Given the description of an element on the screen output the (x, y) to click on. 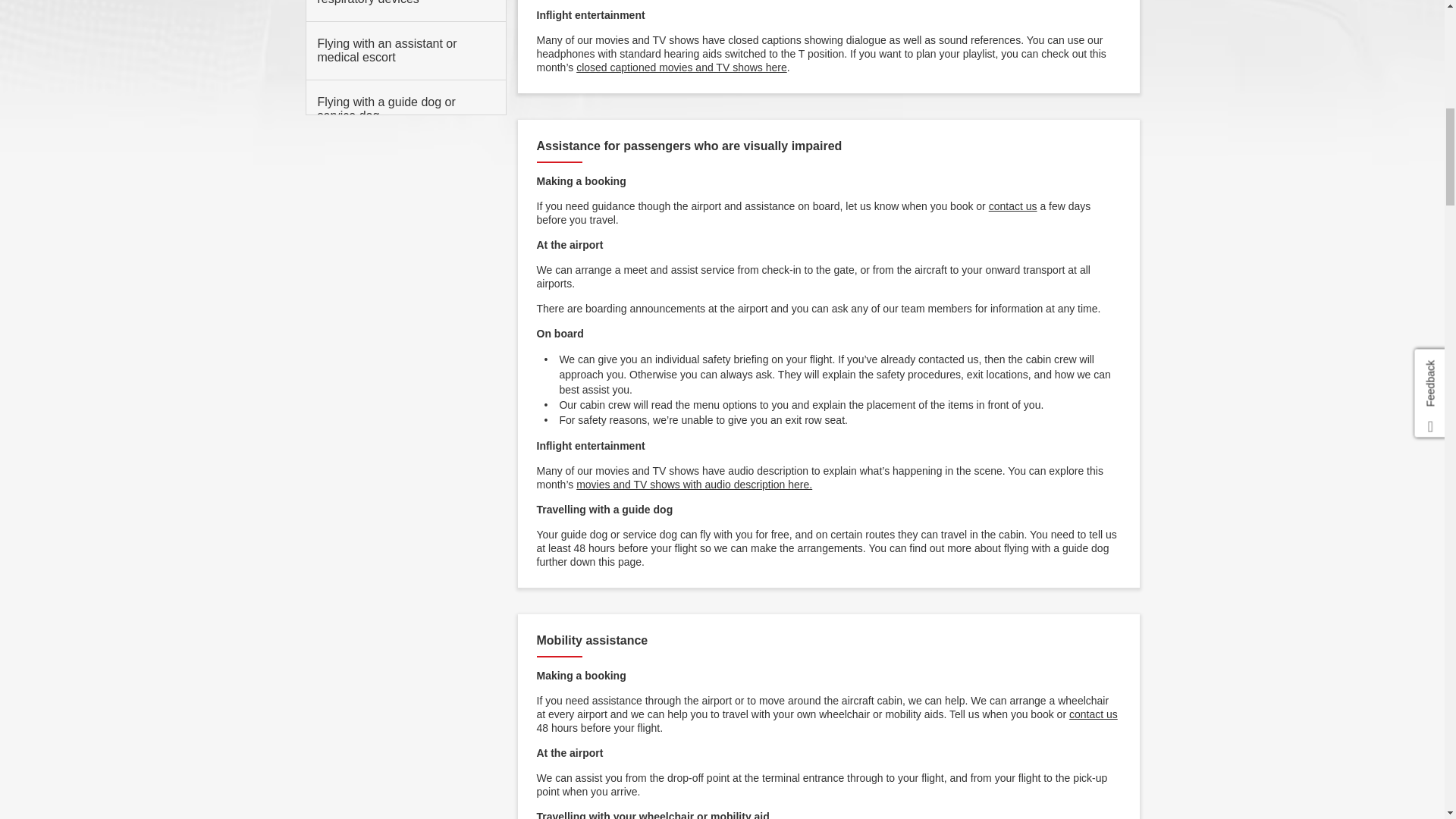
Local Emirates offices (1093, 714)
Local Emirates offices (1012, 205)
